Given the description of an element on the screen output the (x, y) to click on. 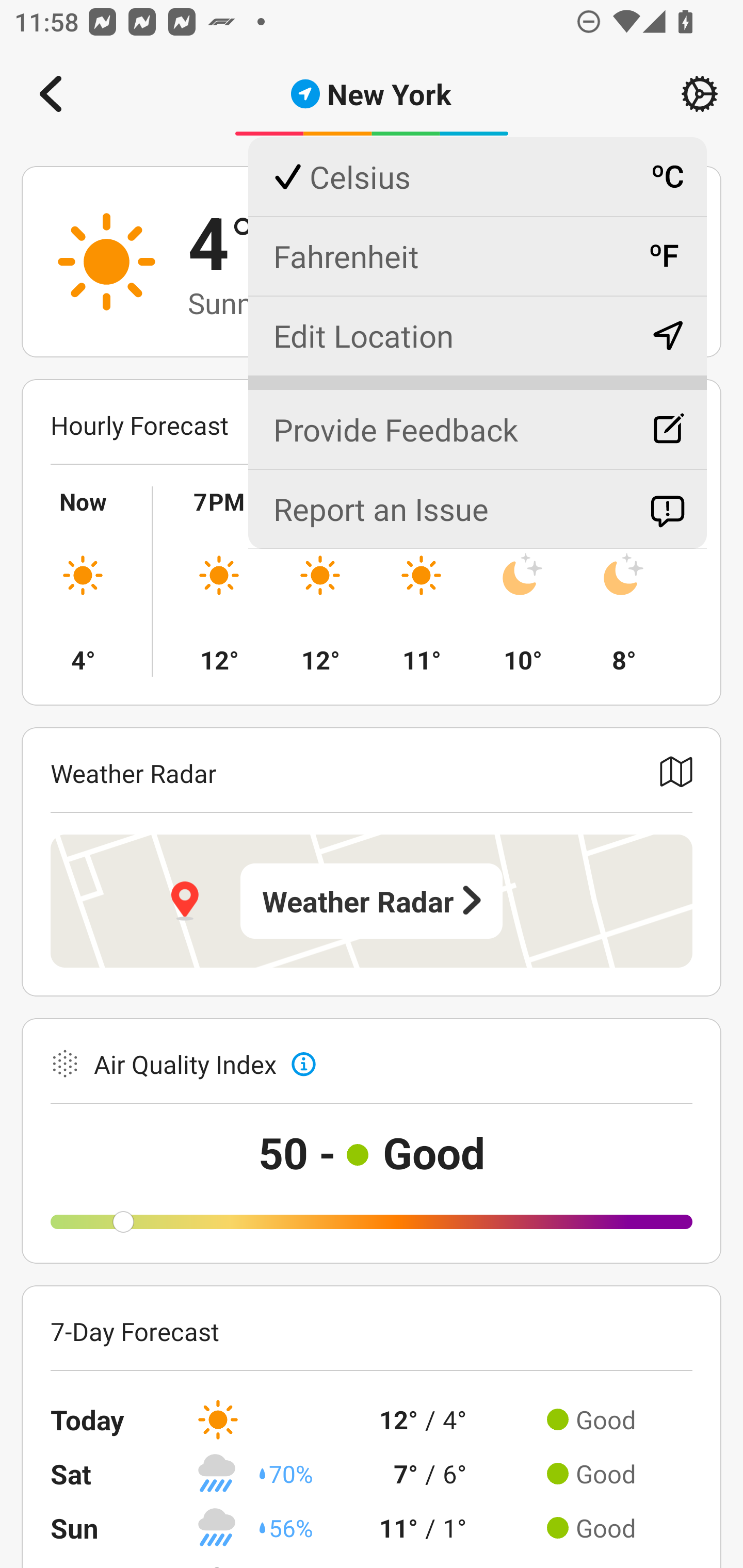
Celsius (477, 176)
Fahrenheit (477, 256)
Edit Location (477, 335)
Provide Feedback (477, 421)
Report an Issue (477, 508)
